Given the description of an element on the screen output the (x, y) to click on. 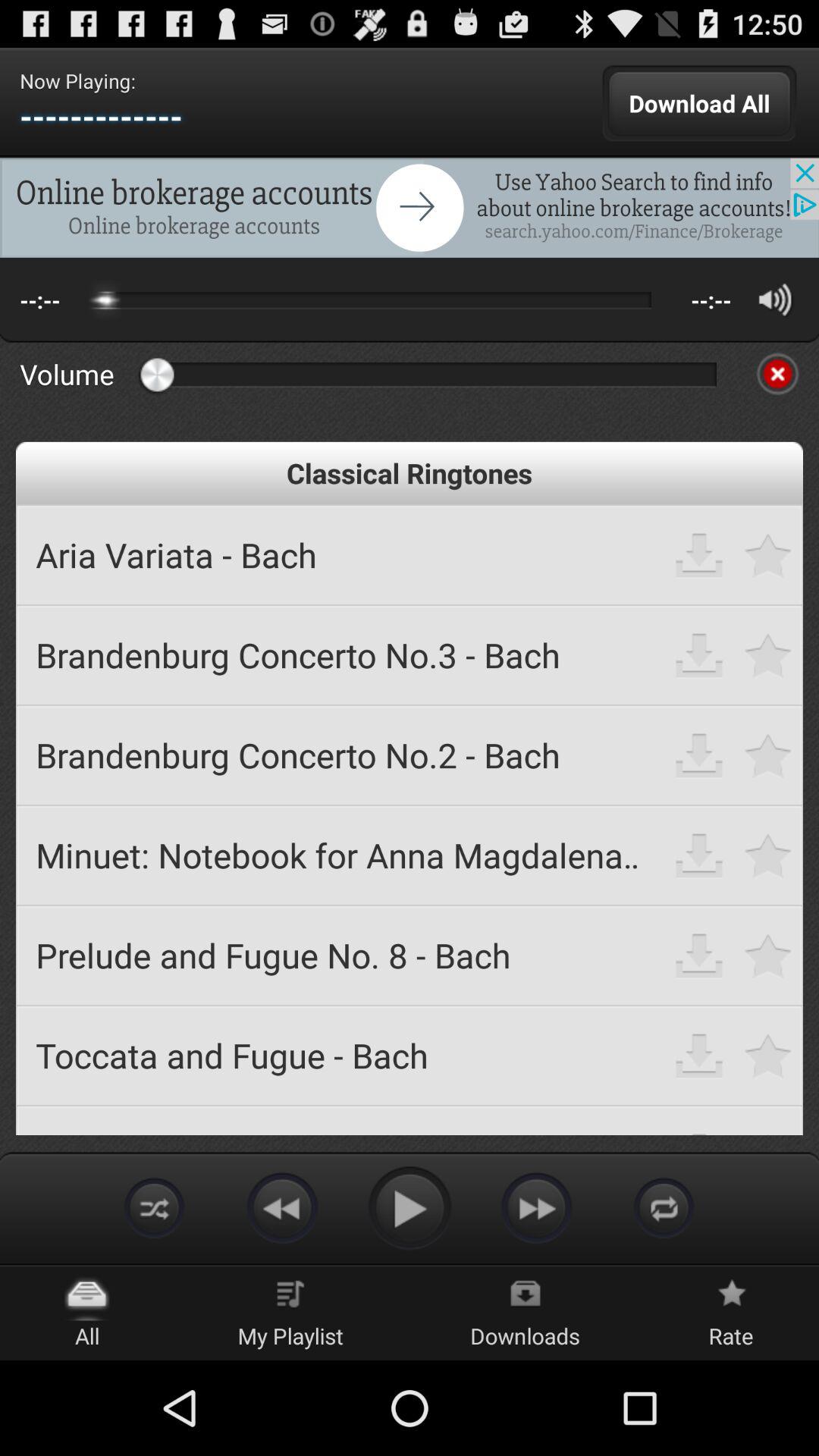
cancel app (777, 373)
